Given the description of an element on the screen output the (x, y) to click on. 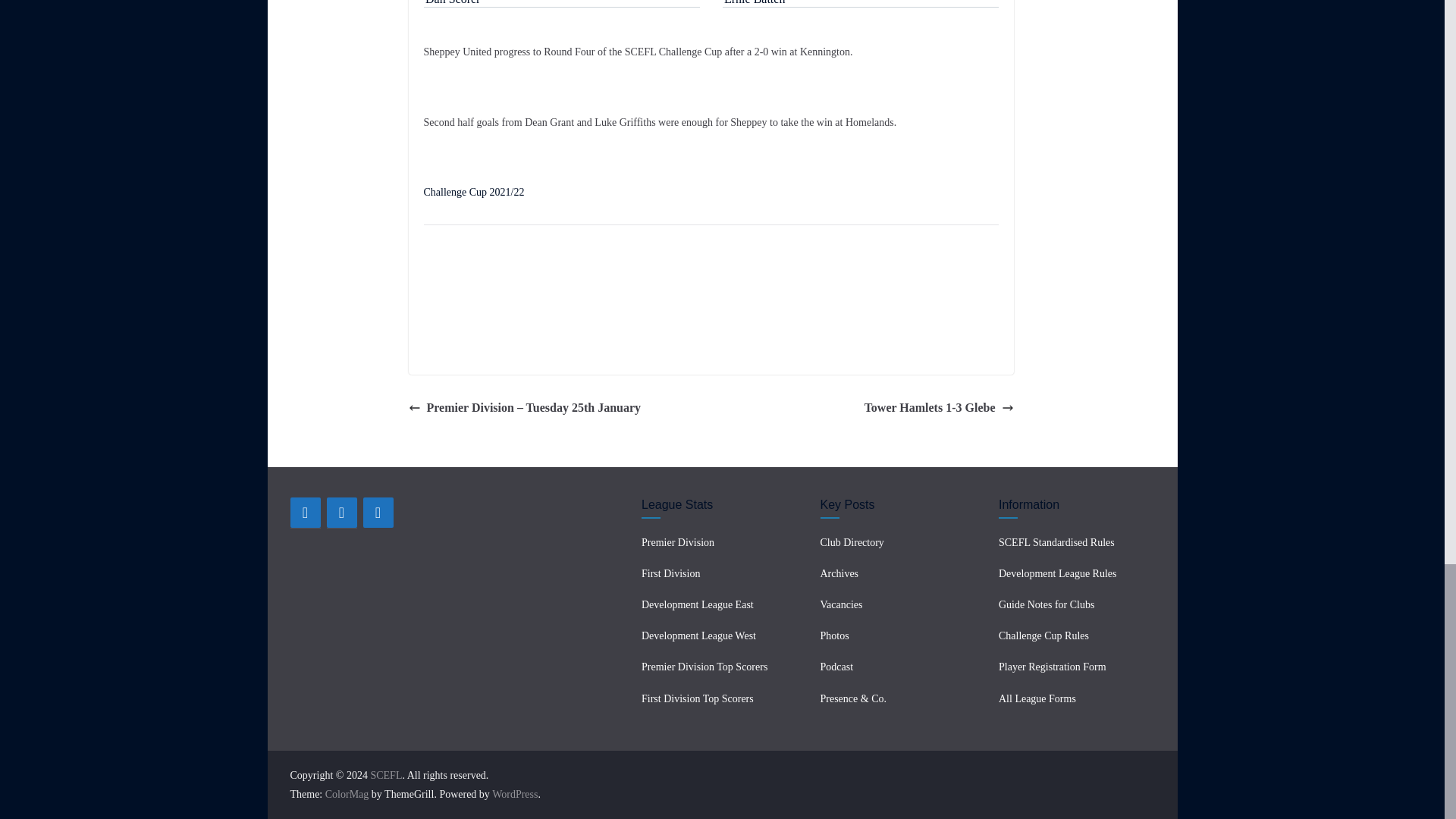
ColorMag (346, 794)
WordPress (514, 794)
Instagram (377, 512)
Facebook (304, 512)
Twitter (341, 512)
SCEFL (385, 775)
